Given the description of an element on the screen output the (x, y) to click on. 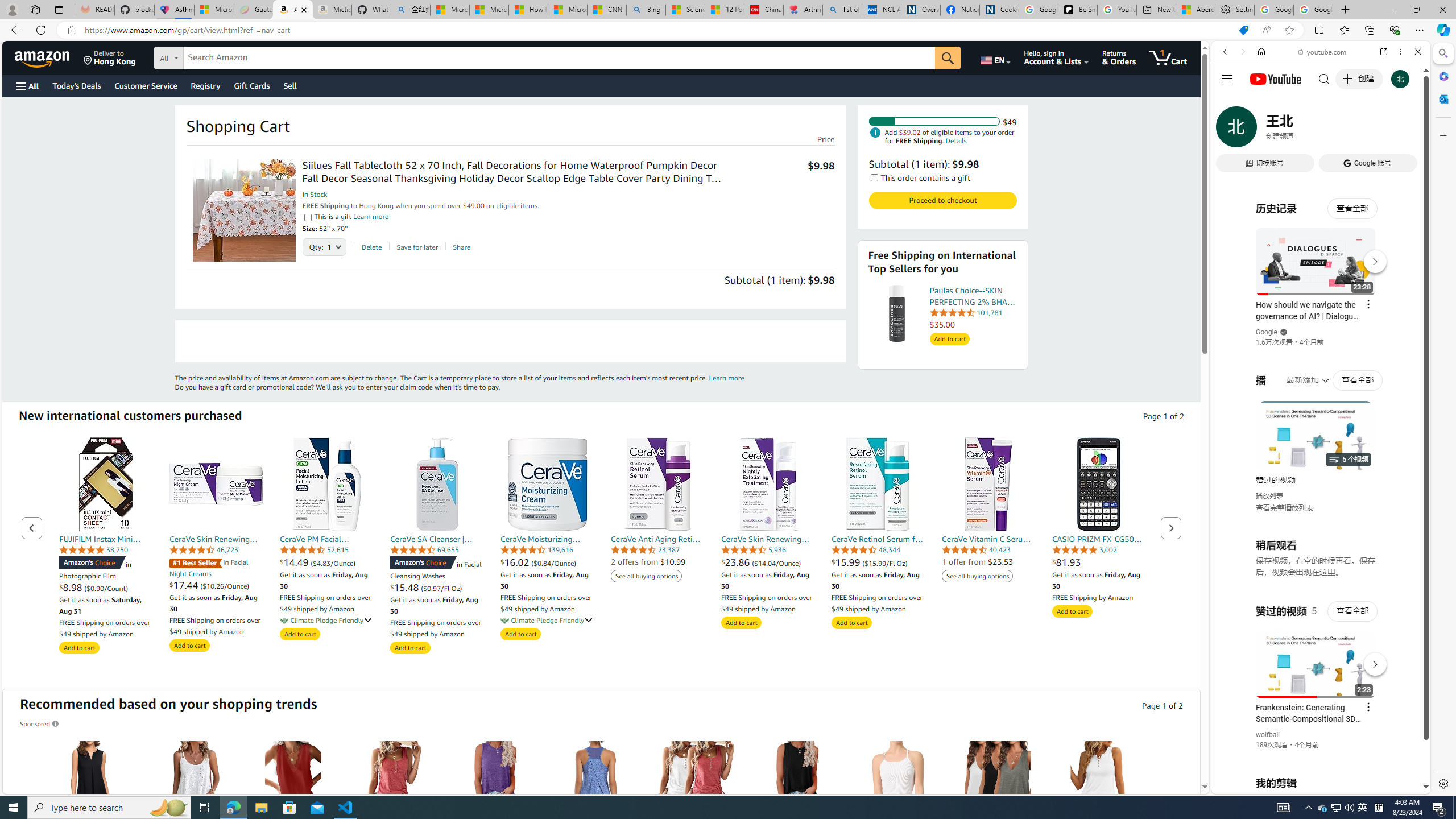
($0.90/Count) (106, 587)
Class: a-link-normal (1098, 538)
